Given the description of an element on the screen output the (x, y) to click on. 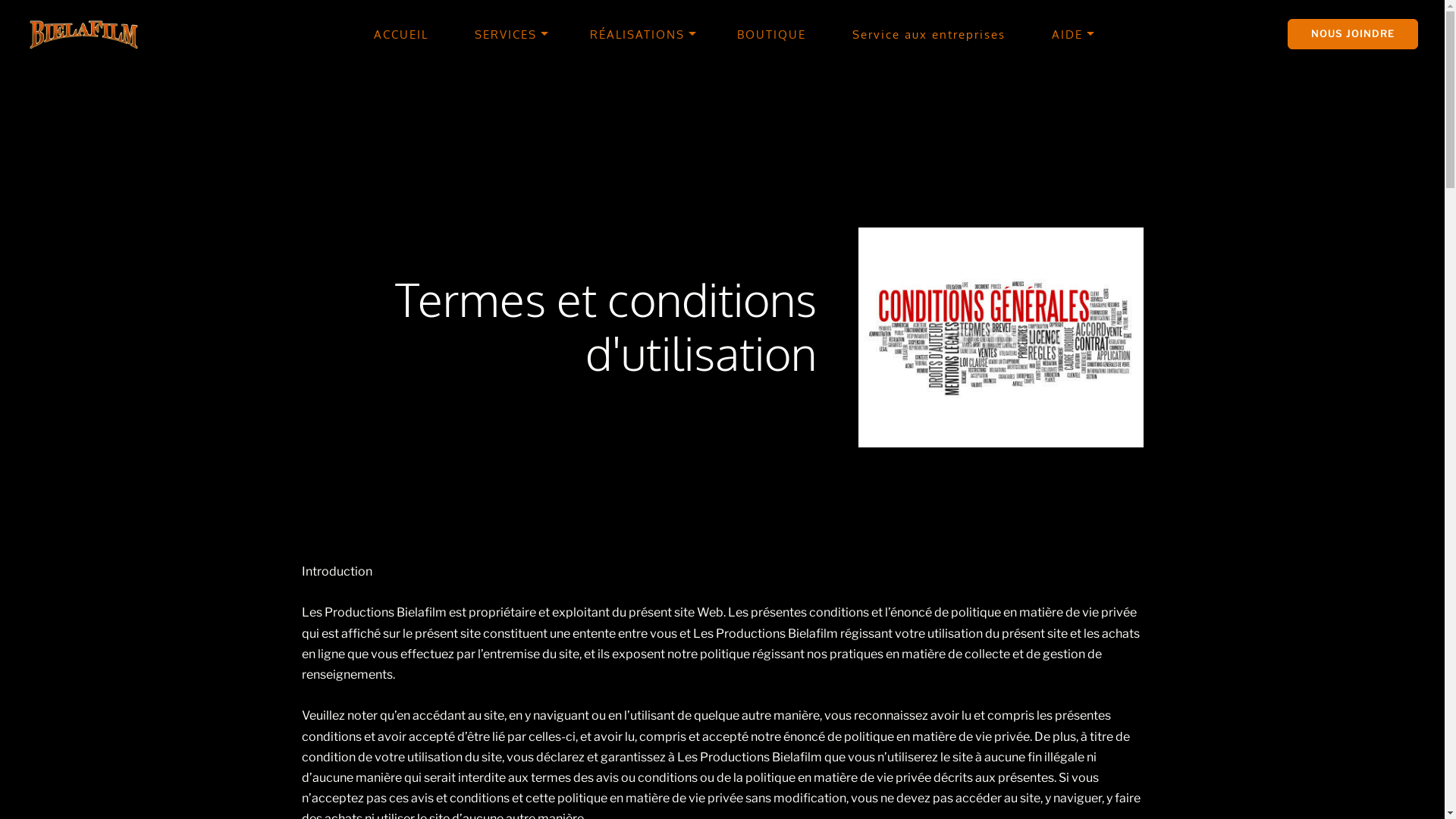
Service aux entreprises Element type: text (928, 34)
ACCUEIL Element type: text (400, 34)
SERVICES Element type: text (505, 34)
BOUTIQUE Element type: text (771, 34)
AIDE Element type: text (1066, 34)
NOUS JOINDRE Element type: text (1352, 33)
